Given the description of an element on the screen output the (x, y) to click on. 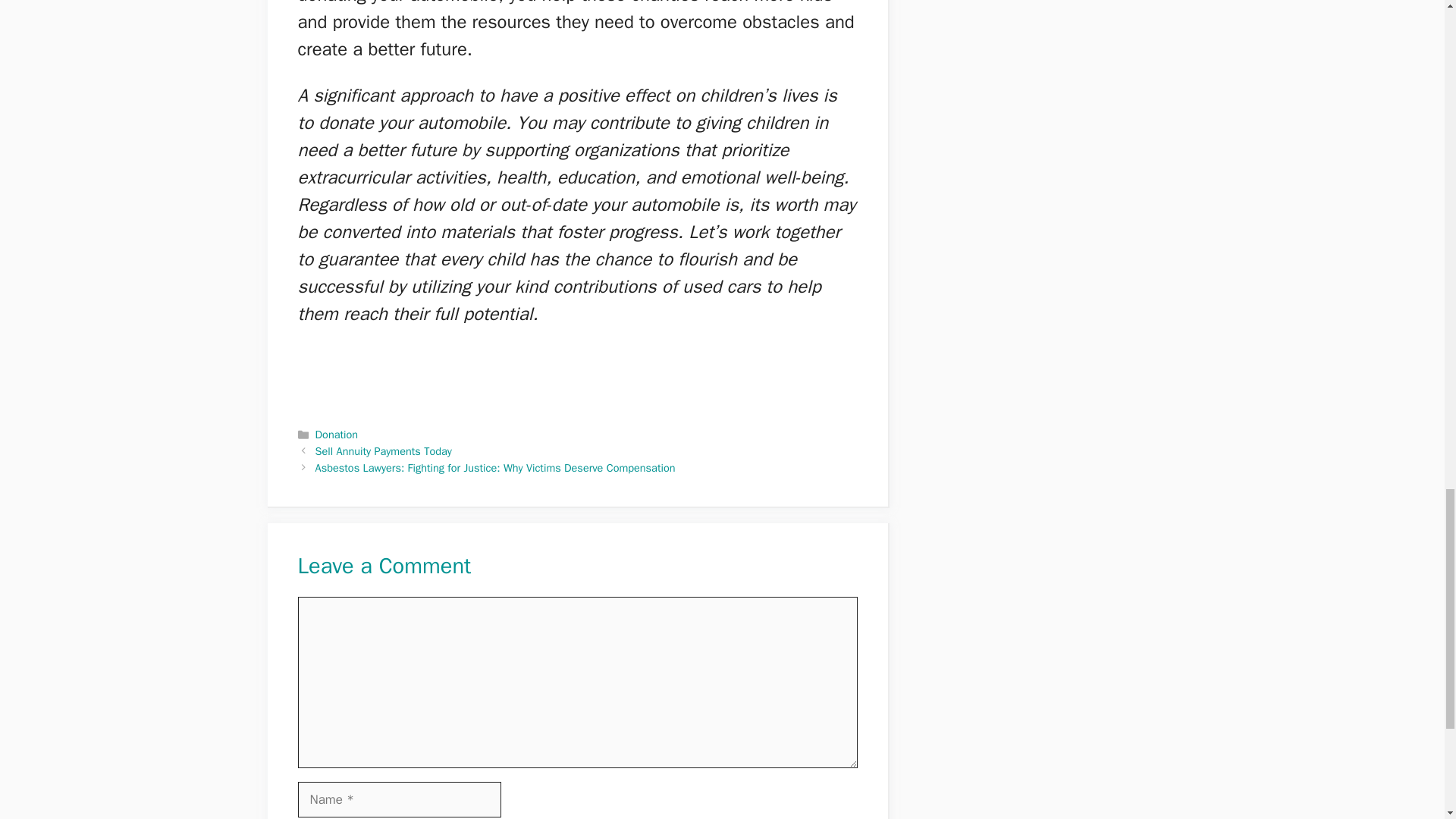
Donation (336, 434)
Sell Annuity Payments Today (383, 450)
